Given the description of an element on the screen output the (x, y) to click on. 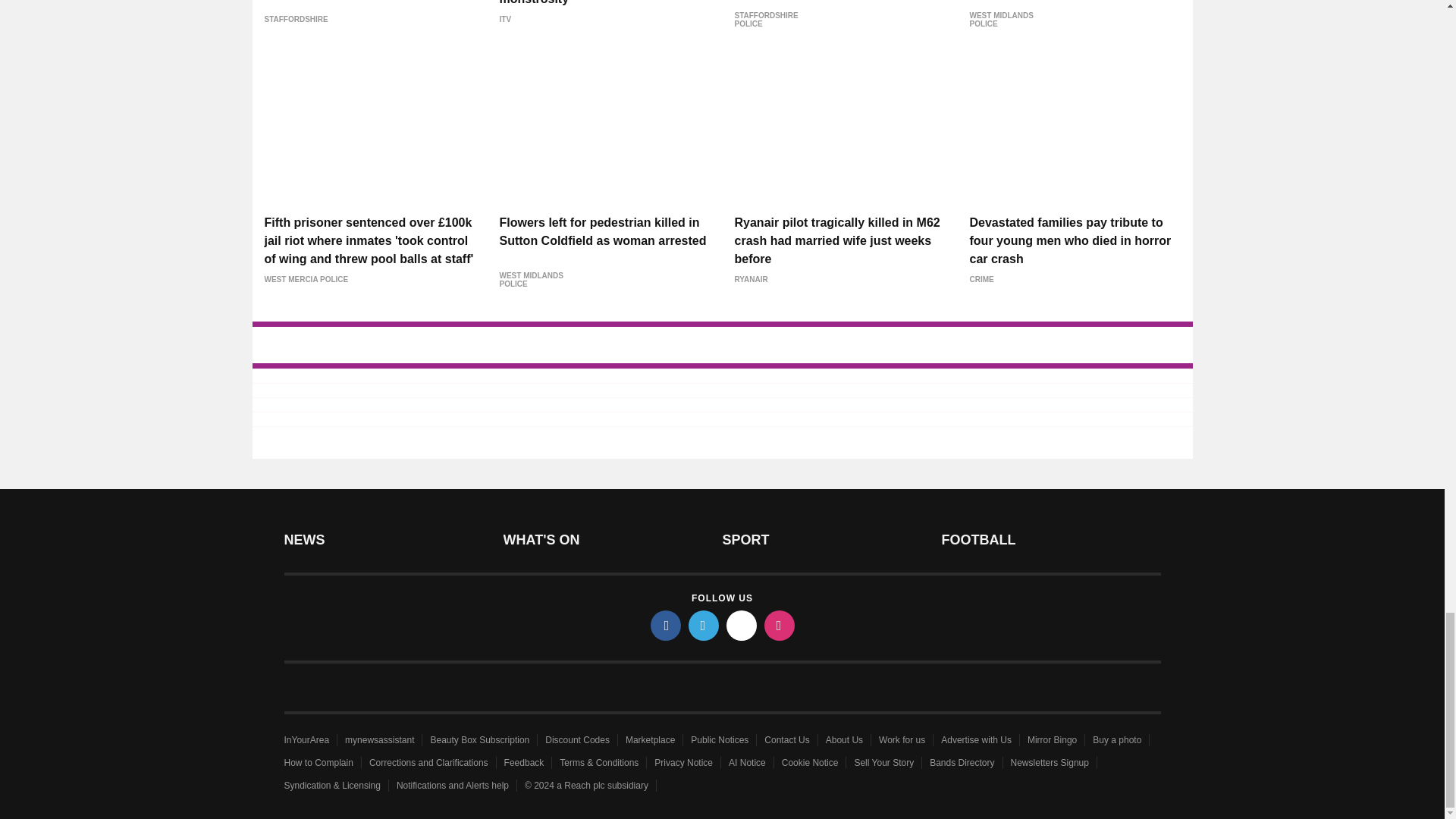
tiktok (741, 625)
twitter (703, 625)
instagram (779, 625)
facebook (665, 625)
